Given the description of an element on the screen output the (x, y) to click on. 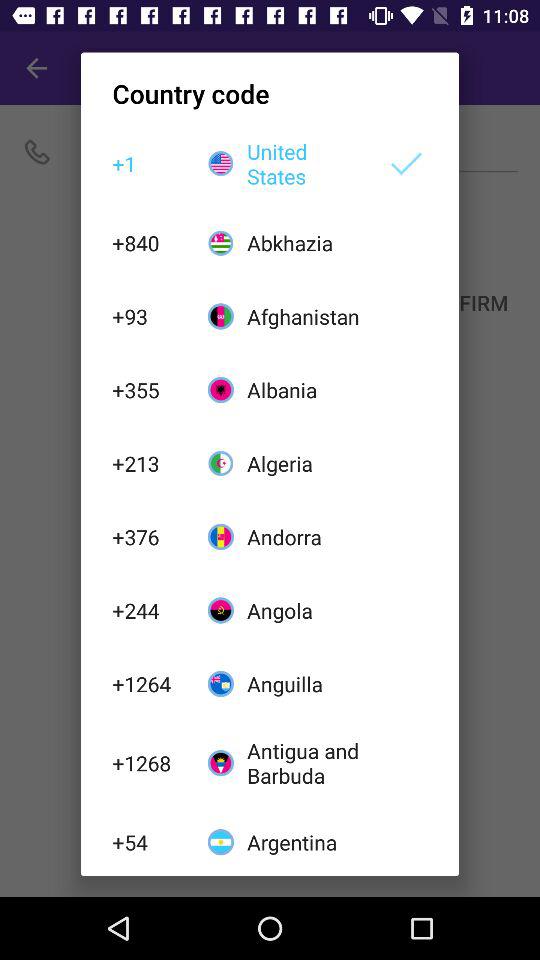
turn on item above +93 icon (149, 242)
